Given the description of an element on the screen output the (x, y) to click on. 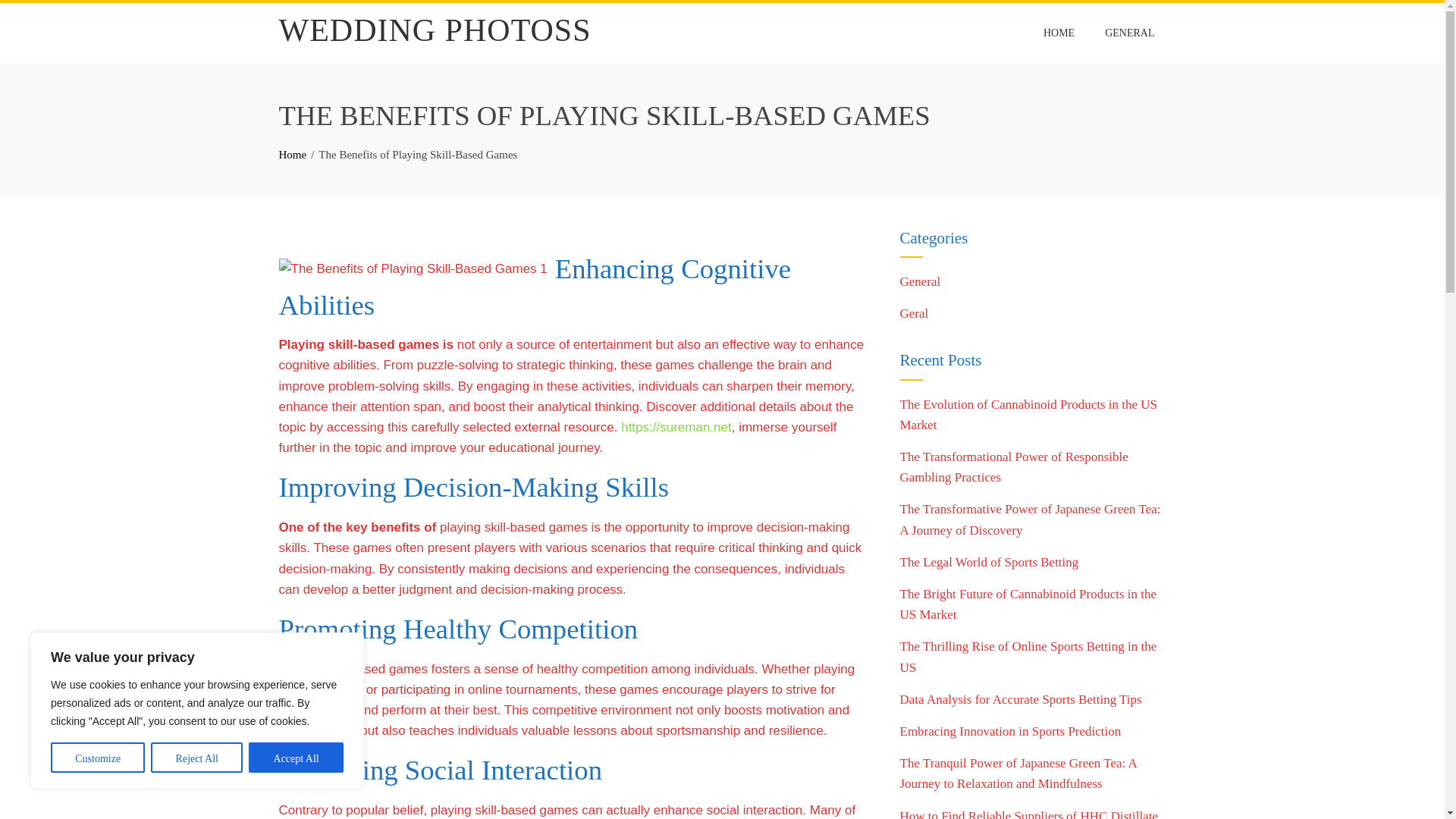
The Evolution of Cannabinoid Products in the US Market (1028, 414)
The Thrilling Rise of Online Sports Betting in the US (1027, 656)
Customize (97, 757)
The Legal World of Sports Betting (988, 562)
How to Find Reliable Suppliers of HHC Distillate (1028, 814)
The Bright Future of Cannabinoid Products in the US Market (1027, 604)
Reject All (197, 757)
Geral (913, 313)
The Transformational Power of Responsible Gambling Practices (1012, 466)
General (919, 281)
Accept All (295, 757)
HOME (1059, 32)
Embracing Innovation in Sports Prediction (1010, 730)
